Given the description of an element on the screen output the (x, y) to click on. 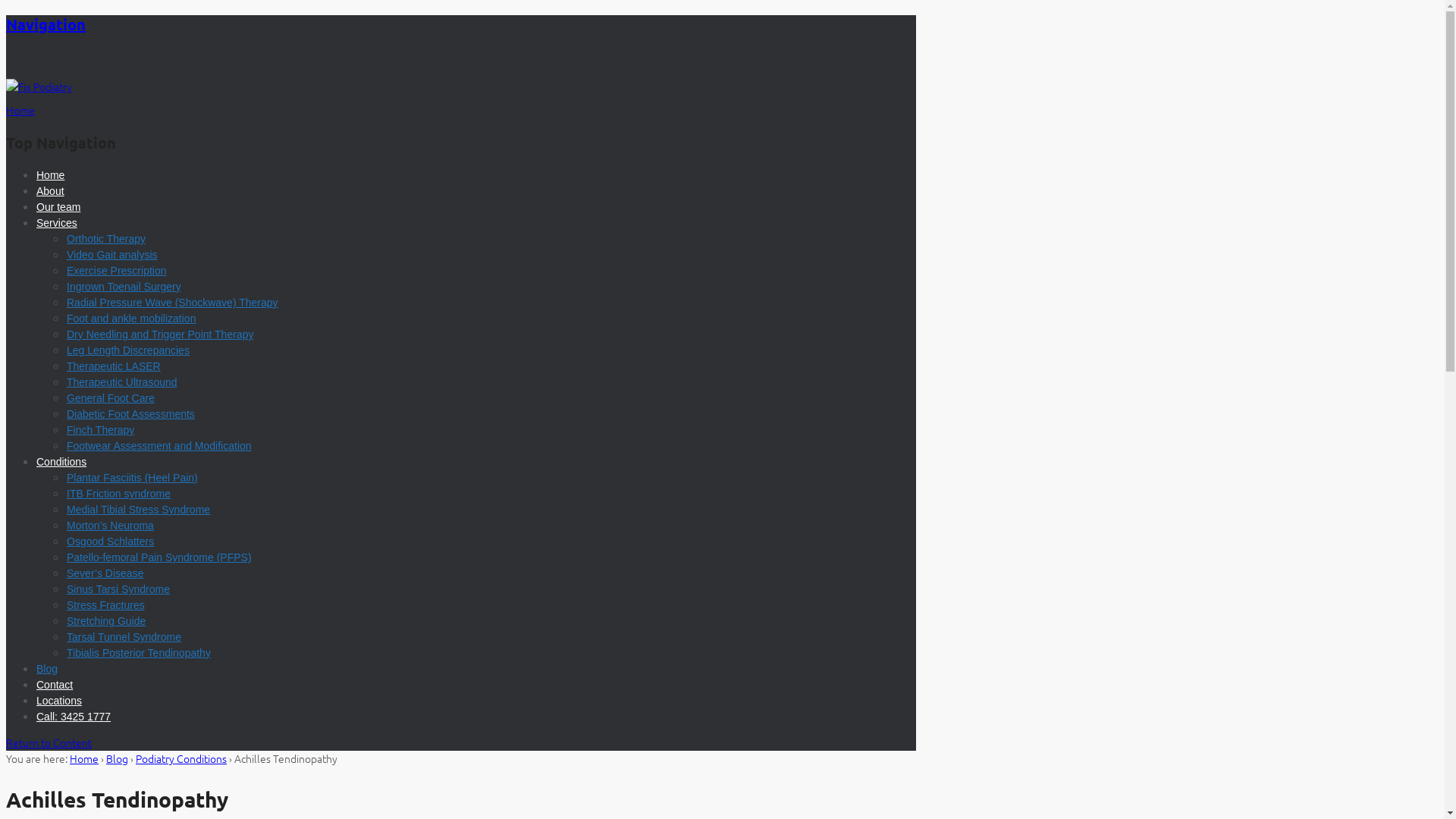
ITB Friction syndrome Element type: text (118, 493)
Navigation Element type: text (45, 24)
Orthotic Therapy Element type: text (105, 238)
Osgood Schlatters Element type: text (109, 541)
Blog Element type: text (46, 668)
Contact Element type: text (54, 684)
Services Element type: text (56, 222)
Call: 3425 1777 Element type: text (73, 716)
Tibialis Posterior Tendinopathy Element type: text (138, 652)
Sinus Tarsi Syndrome Element type: text (117, 589)
Video Gait analysis Element type: text (111, 254)
General Foot Care Element type: text (110, 398)
Finch Therapy Element type: text (100, 429)
Medial Tibial Stress Syndrome Element type: text (138, 509)
Ingrown Toenail Surgery Element type: text (123, 286)
Home Element type: text (83, 757)
Diabetic Foot Assessments Element type: text (130, 413)
Dry Needling and Trigger Point Therapy Element type: text (159, 334)
Podiatry Conditions Element type: text (180, 757)
Therapeutic LASER Element type: text (113, 366)
Home Element type: text (20, 109)
Stress Fractures Element type: text (105, 605)
Conditions Element type: text (61, 461)
Our team Element type: text (58, 206)
About Element type: text (50, 191)
Foot and ankle mobilization Element type: text (130, 318)
Tarsal Tunnel Syndrome Element type: text (123, 636)
Stretching Guide Element type: text (105, 621)
Return to Content Element type: text (48, 741)
Home Element type: text (50, 175)
Leg Length Discrepancies Element type: text (127, 350)
Footwear Assessment and Modification Element type: text (158, 445)
Locations Element type: text (58, 700)
Blog Element type: text (117, 757)
Plantar Fasciitis (Heel Pain) Element type: text (131, 477)
Radial Pressure Wave (Shockwave) Therapy Element type: text (172, 302)
Exercise Prescription Element type: text (116, 270)
Patello-femoral Pain Syndrome (PFPS) Element type: text (158, 557)
Therapeutic Ultrasound Element type: text (121, 382)
